Given the description of an element on the screen output the (x, y) to click on. 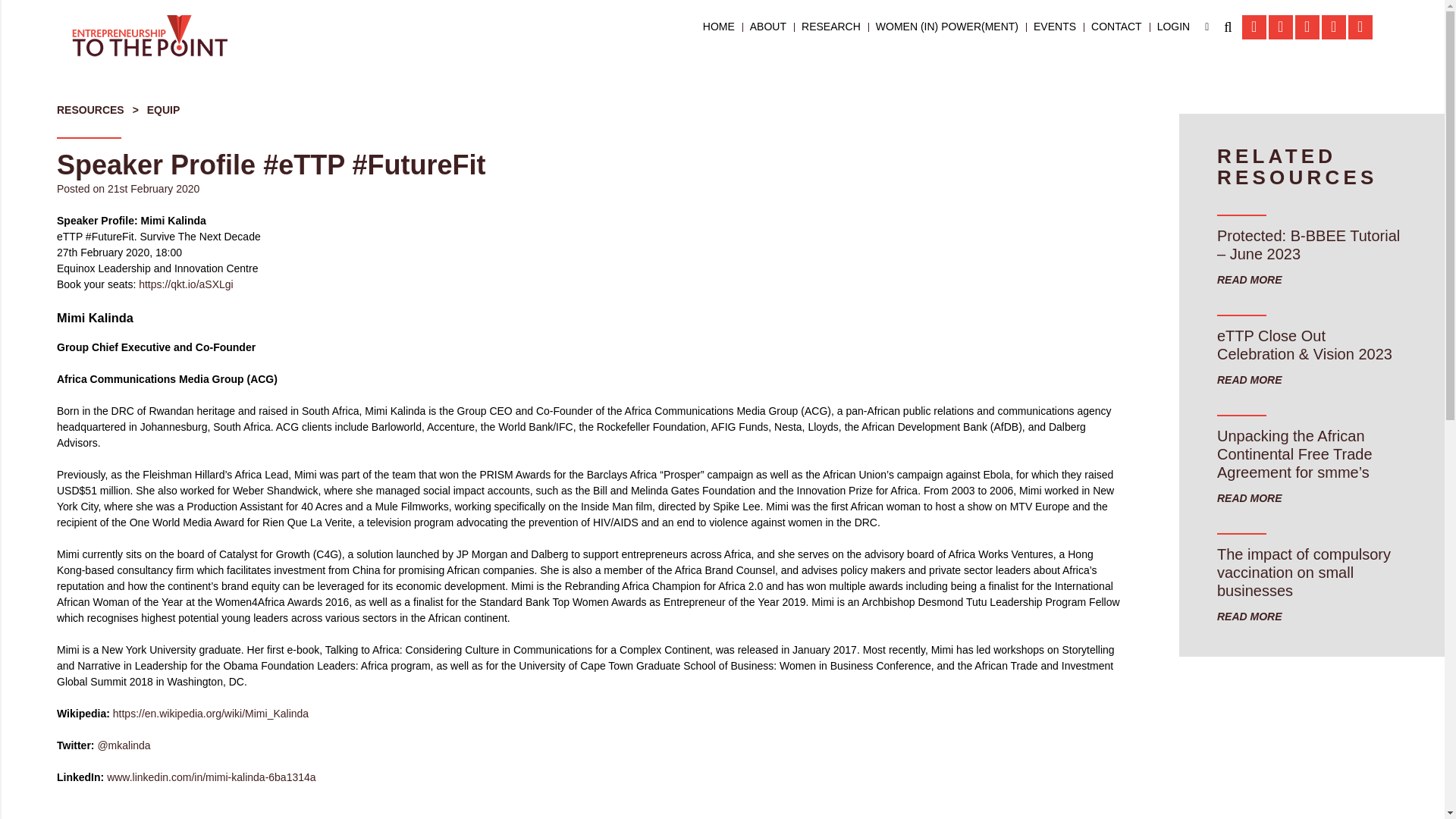
ABOUT (767, 26)
LOGIN (1174, 26)
EVENTS (1054, 26)
RESEARCH (831, 26)
EQUIP (163, 109)
HOME (719, 26)
RESOURCES (89, 109)
21st February 2020 (153, 188)
CONTACT (1115, 26)
